Given the description of an element on the screen output the (x, y) to click on. 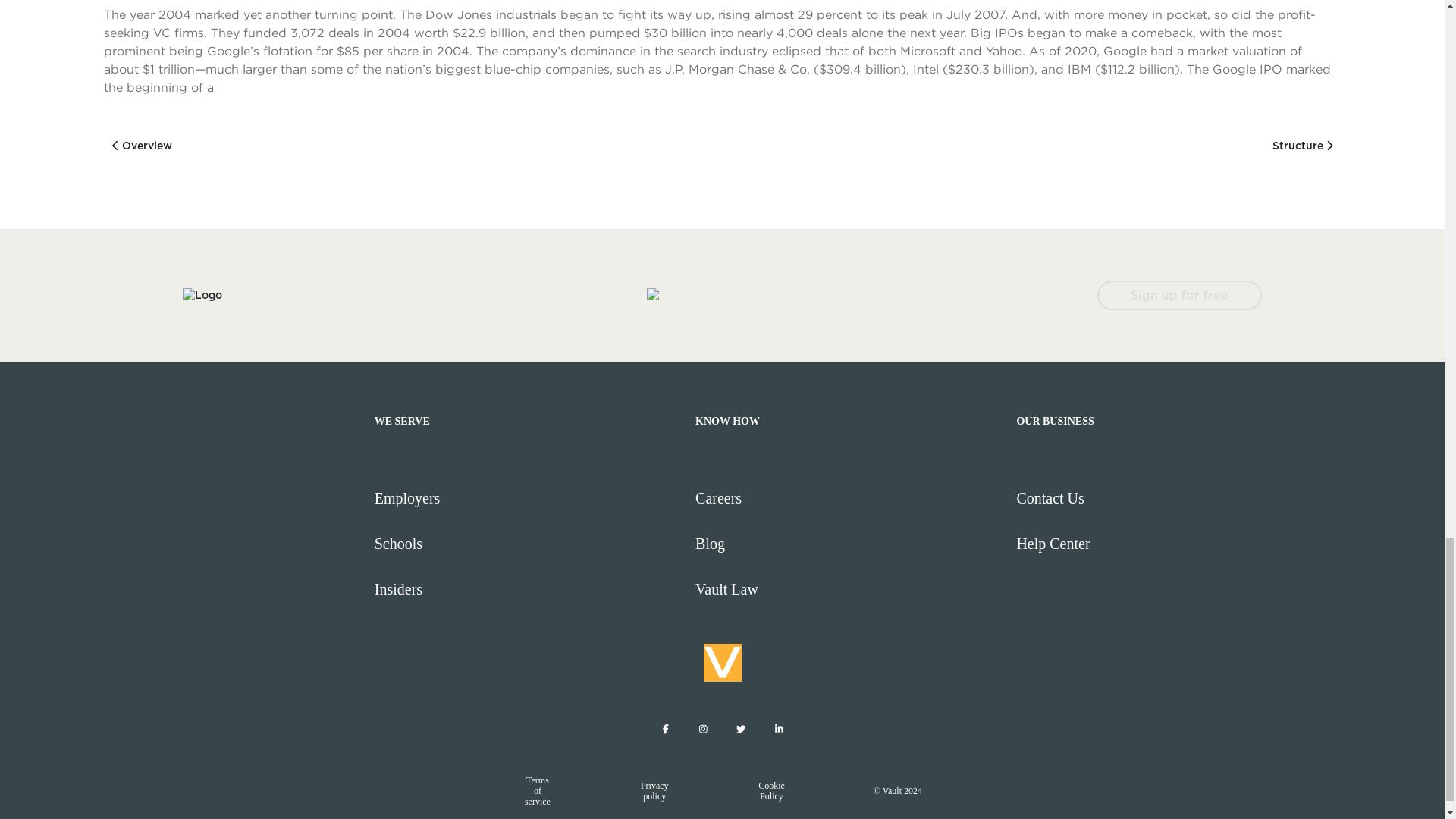
Overview (141, 145)
Employers (528, 498)
Schools (528, 543)
Careers (849, 498)
Structure (1302, 145)
Blog (849, 543)
Help Center (1170, 543)
Sign up for free (1179, 295)
Vault Law (849, 589)
Insiders (528, 589)
